Given the description of an element on the screen output the (x, y) to click on. 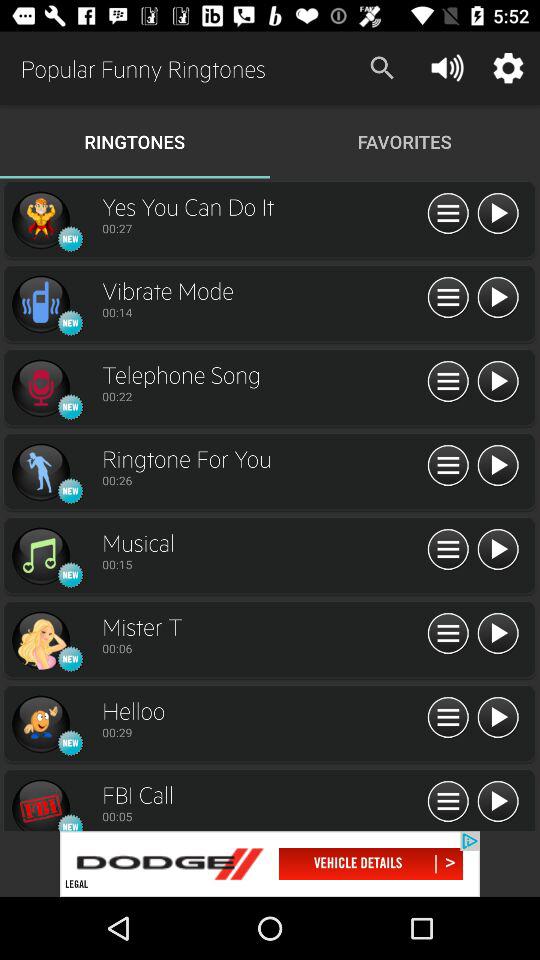
song information (447, 381)
